Given the description of an element on the screen output the (x, y) to click on. 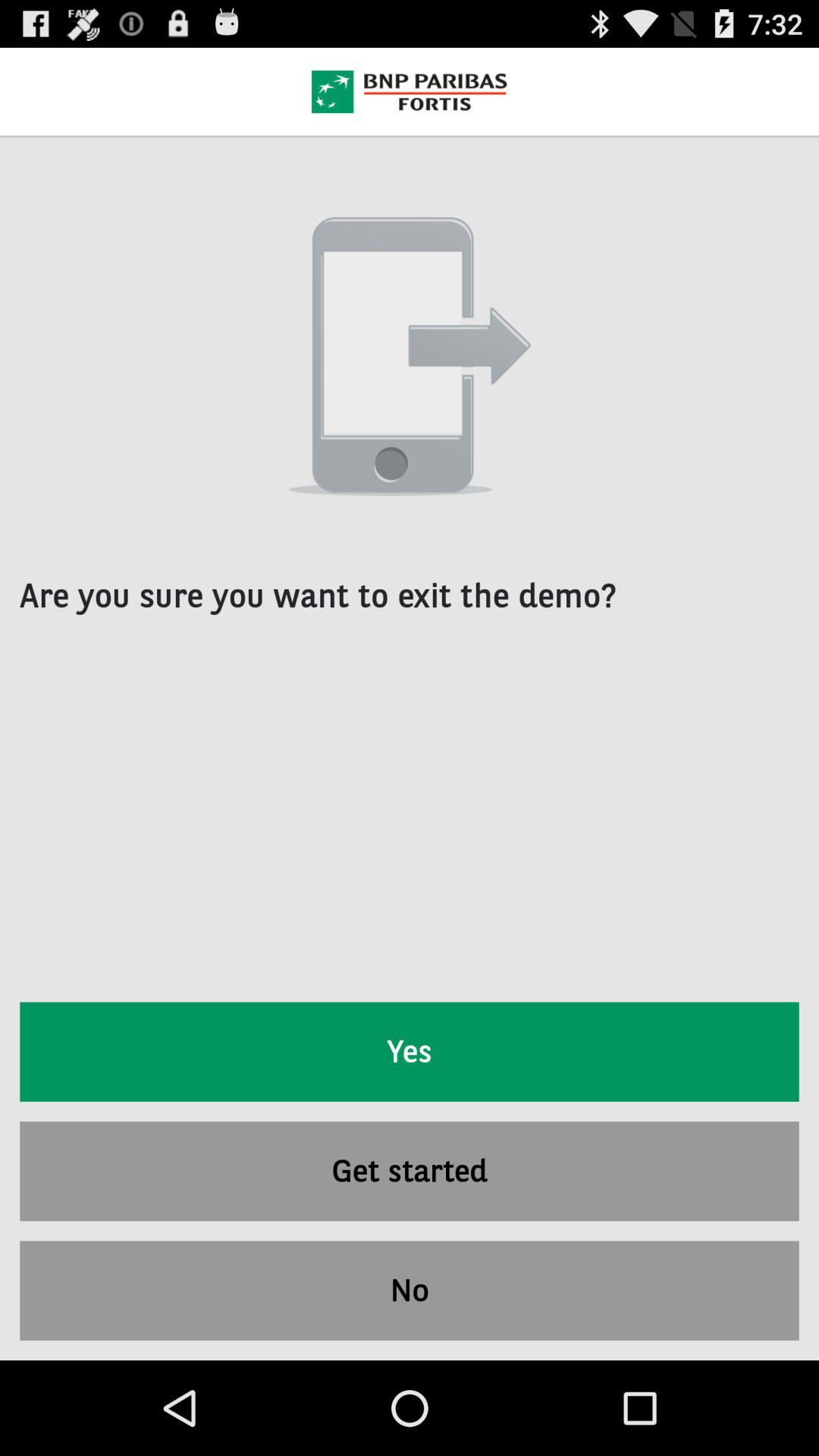
turn on icon above get started item (409, 1051)
